Given the description of an element on the screen output the (x, y) to click on. 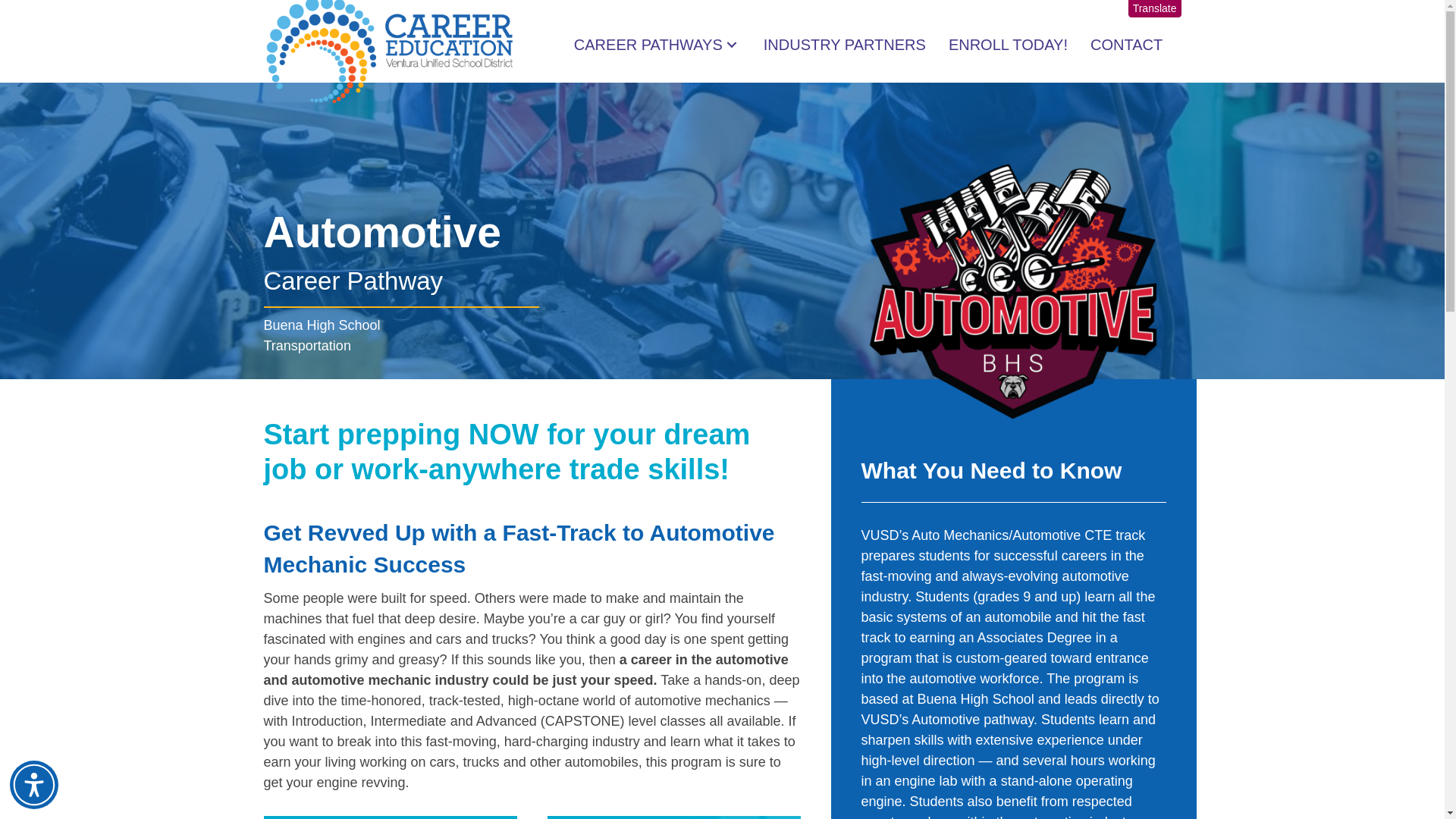
CAREER PATHWAYS (657, 44)
CONTACT (1126, 44)
ENROLL TODAY! (1007, 44)
Translate (1154, 8)
Buena High School (321, 324)
Accessibility Menu (34, 784)
Transportation (306, 345)
INDUSTRY PARTNERS (844, 44)
